Given the description of an element on the screen output the (x, y) to click on. 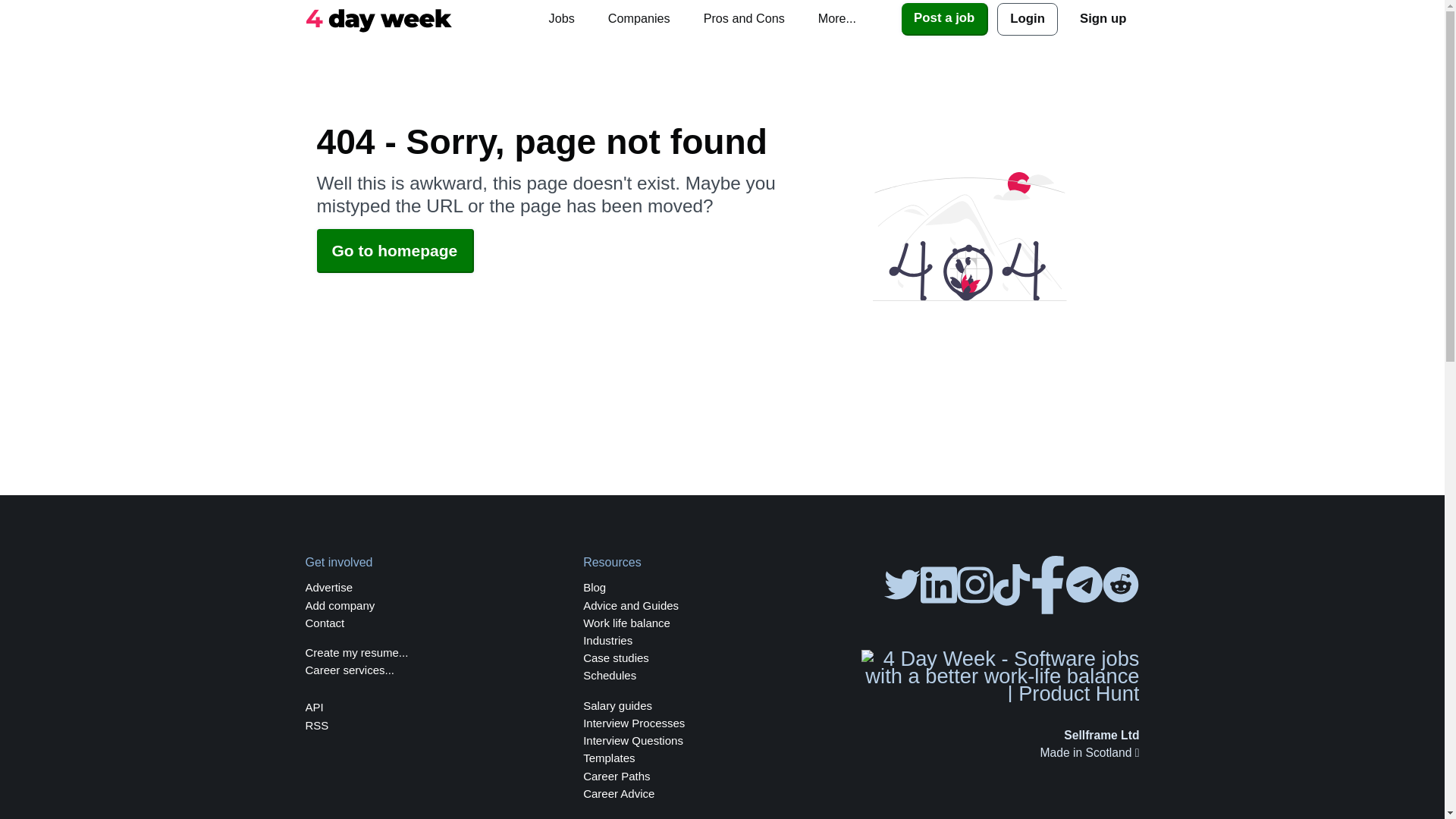
Pros and Cons (743, 18)
Companies (638, 18)
More... (836, 18)
Jobs (561, 18)
